Given the description of an element on the screen output the (x, y) to click on. 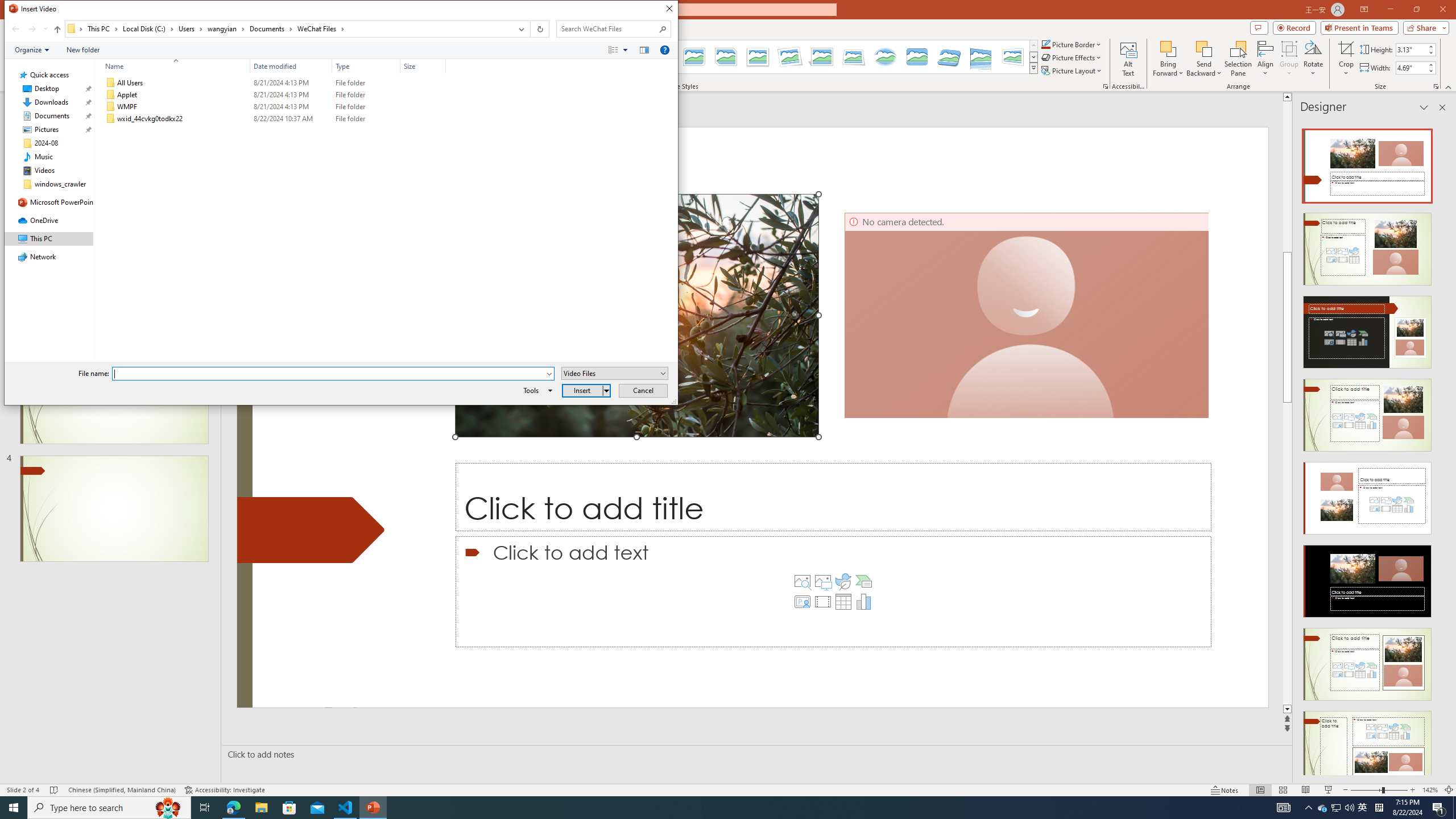
Views (620, 49)
Rotate (1312, 58)
Insert a SmartArt Graphic (863, 581)
Shape Height (1410, 49)
Tools (535, 390)
Size and Position... (1435, 85)
Reflected Perspective Right (981, 56)
Insert Table (843, 601)
Bevel Rectangle (917, 56)
